Given the description of an element on the screen output the (x, y) to click on. 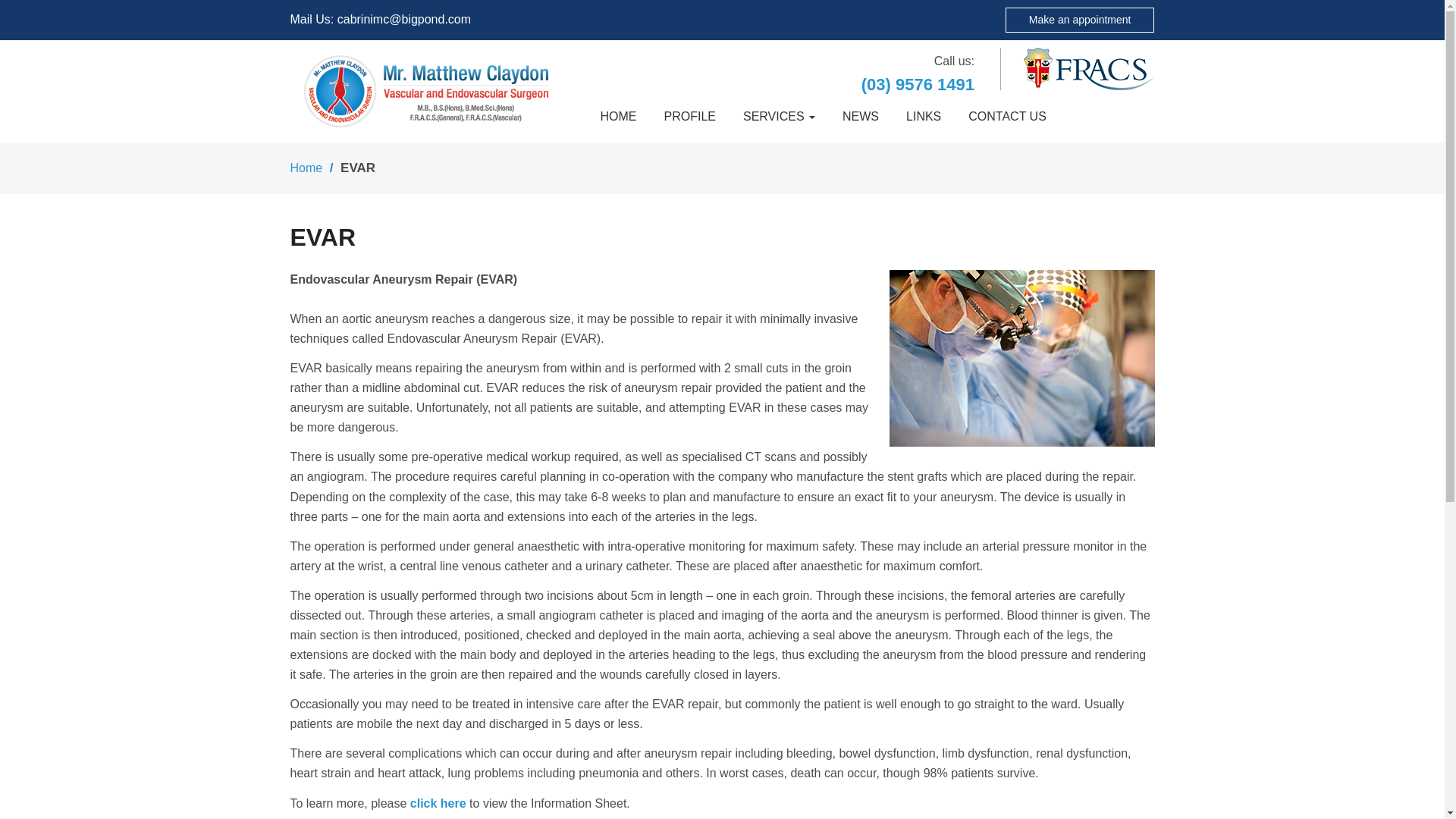
CONTACT US (1007, 116)
SERVICES (778, 116)
HOME (617, 116)
PROFILE (689, 116)
NEWS (860, 116)
Make an appointment (1080, 19)
Fracs (1088, 68)
LINKS (923, 116)
Artery and Vein (426, 91)
